Given the description of an element on the screen output the (x, y) to click on. 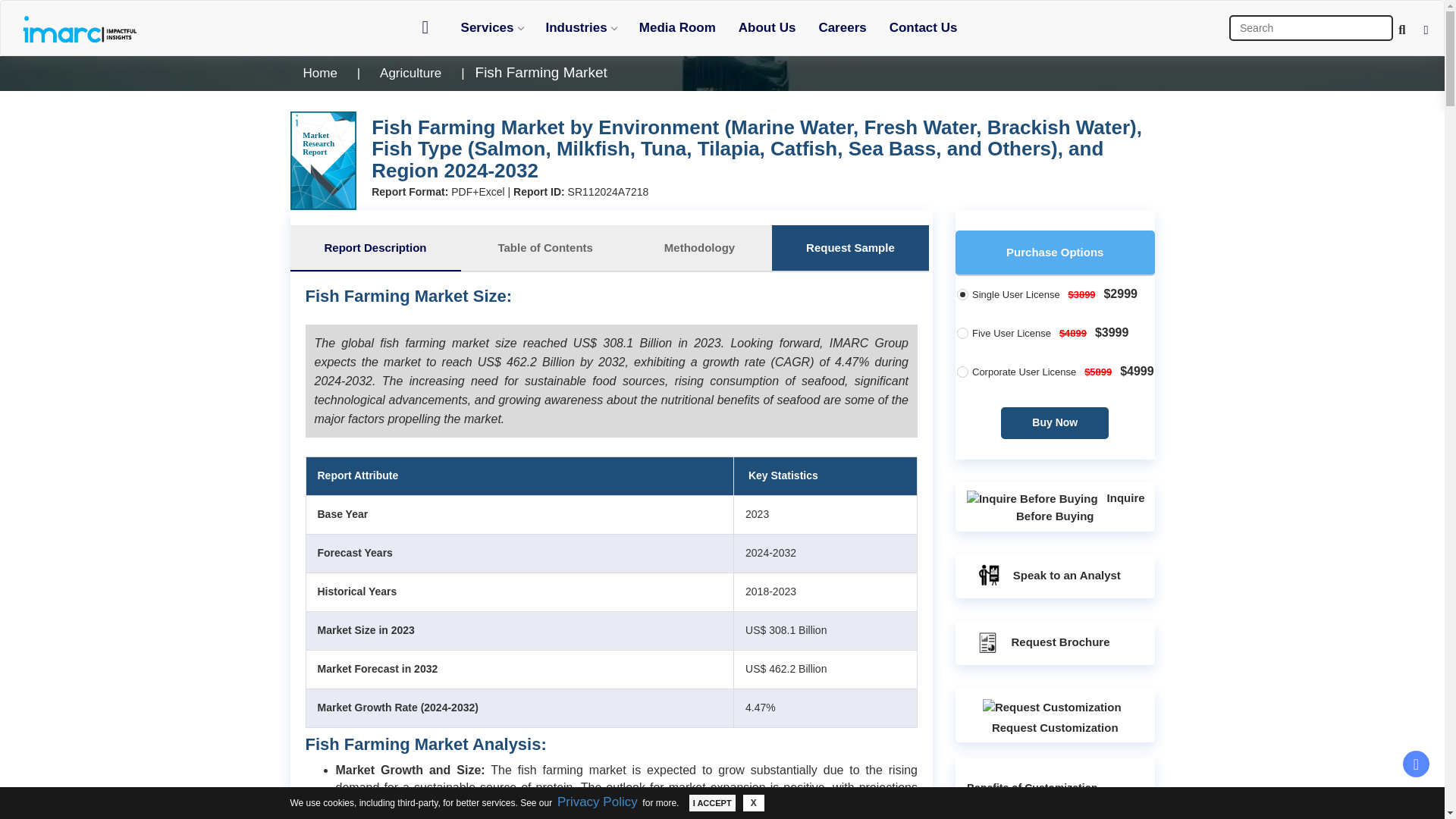
Industries (580, 27)
About Us (767, 27)
Careers (841, 27)
Contact Us (923, 27)
Media Room (676, 27)
Services (491, 27)
